Given the description of an element on the screen output the (x, y) to click on. 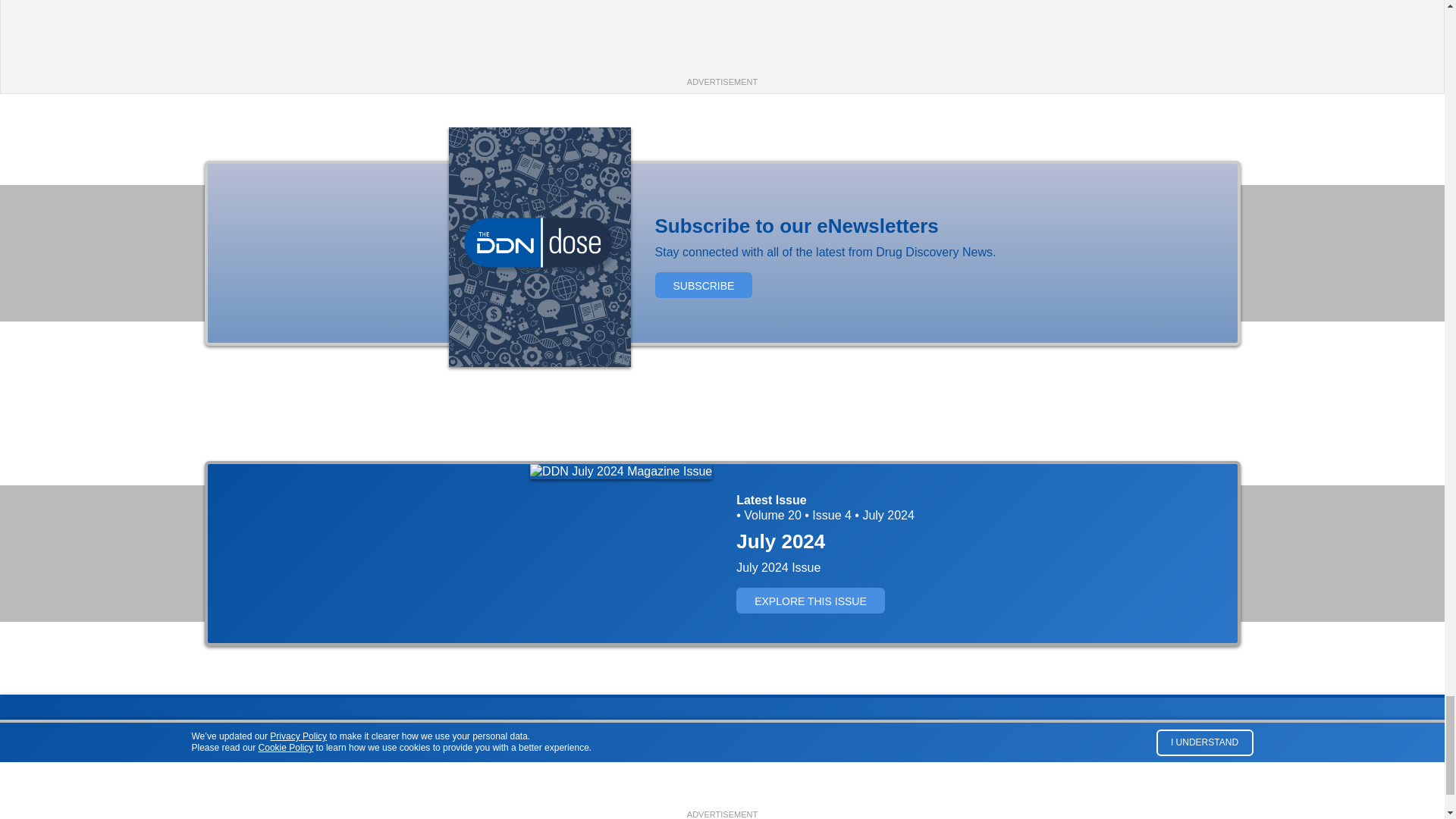
Twitter (1213, 751)
LinkedIn (1240, 751)
Facebook (1186, 751)
3rd party ad content (721, 40)
